Given the description of an element on the screen output the (x, y) to click on. 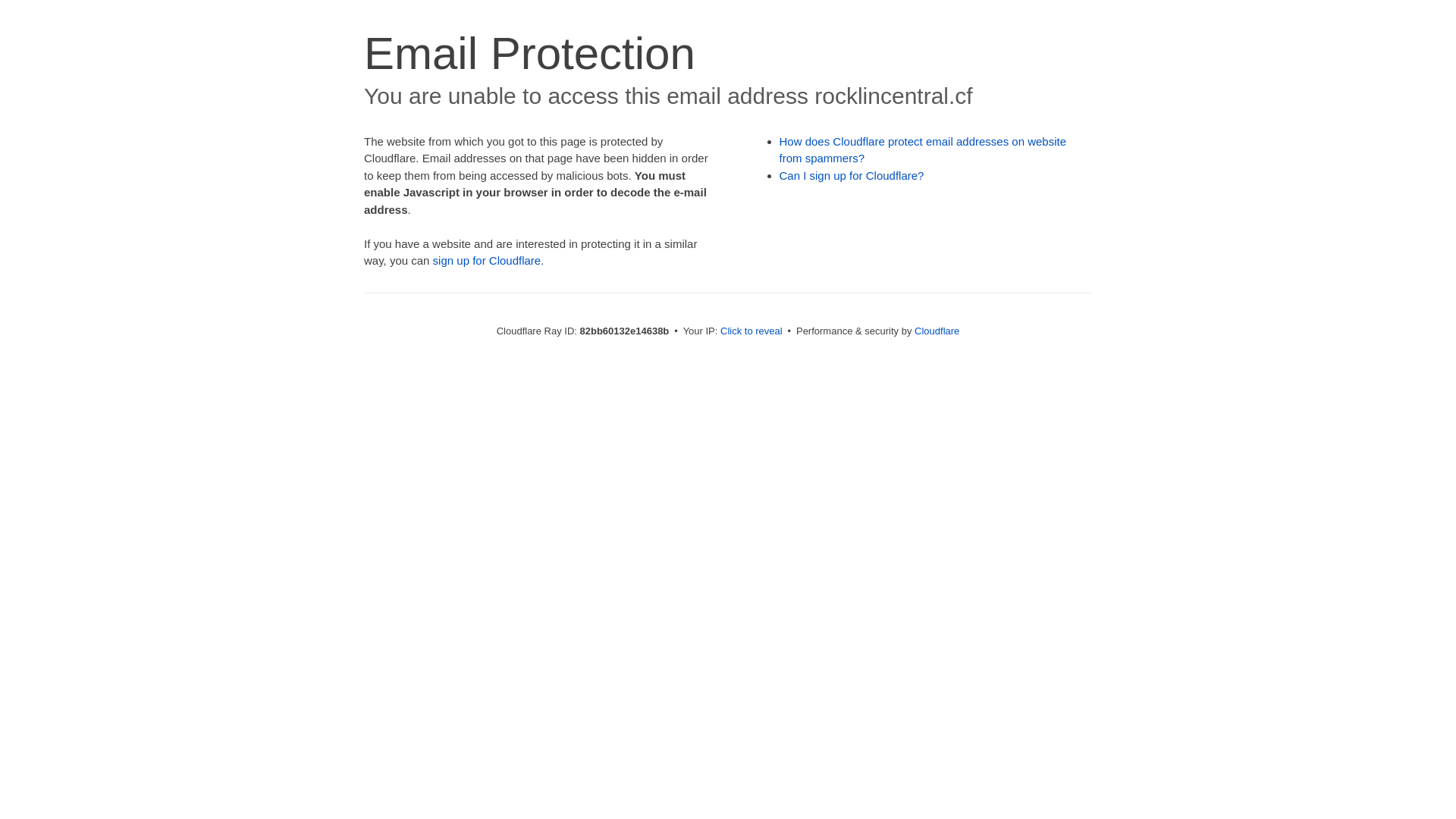
sign up for Cloudflare Element type: text (487, 260)
Click to reveal Element type: text (751, 330)
Cloudflare Element type: text (936, 330)
Can I sign up for Cloudflare? Element type: text (851, 175)
